Given the description of an element on the screen output the (x, y) to click on. 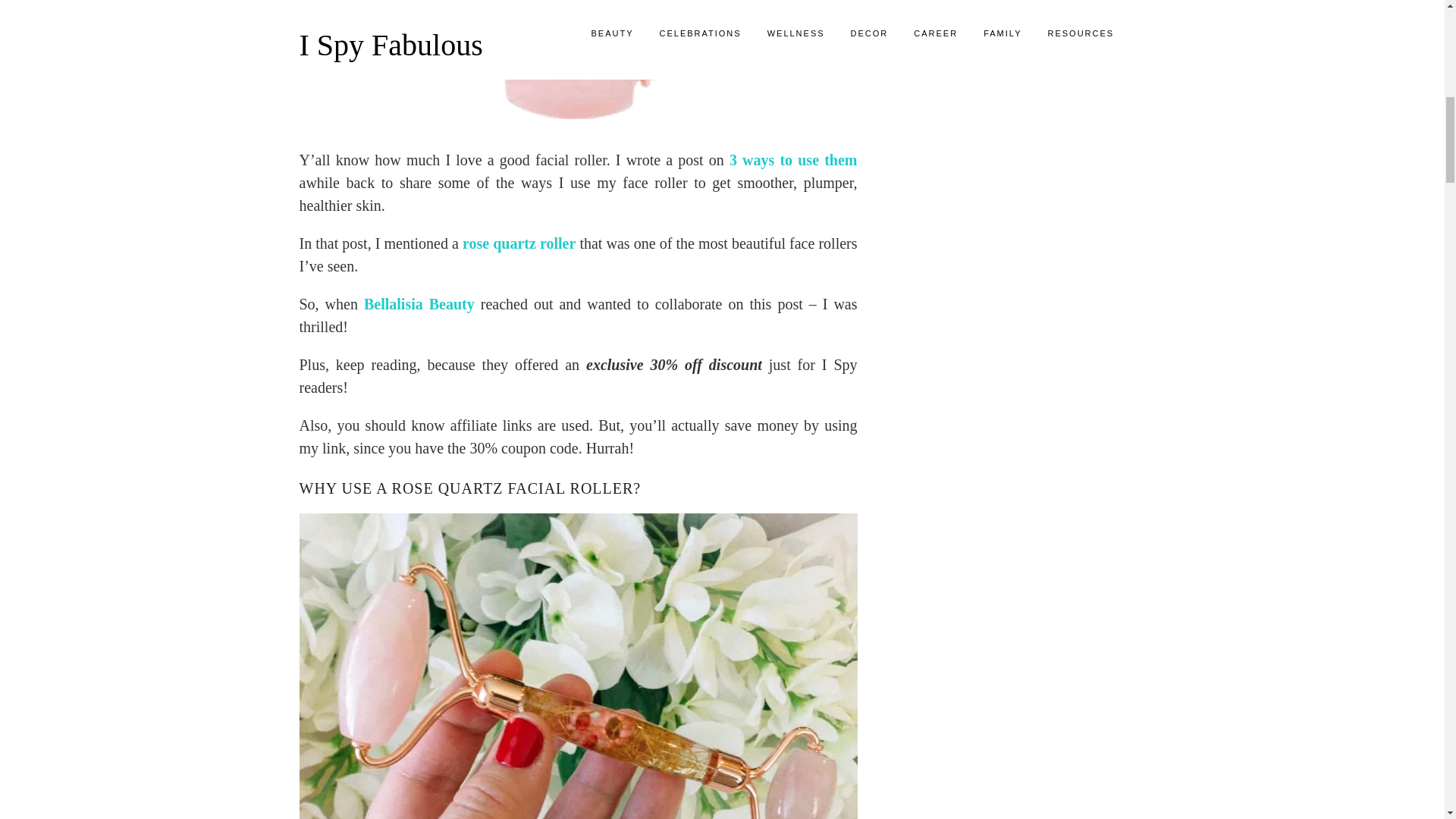
3 ways to use them (793, 159)
Bellalisia Beauty (419, 303)
rose quartz roller (519, 243)
